Given the description of an element on the screen output the (x, y) to click on. 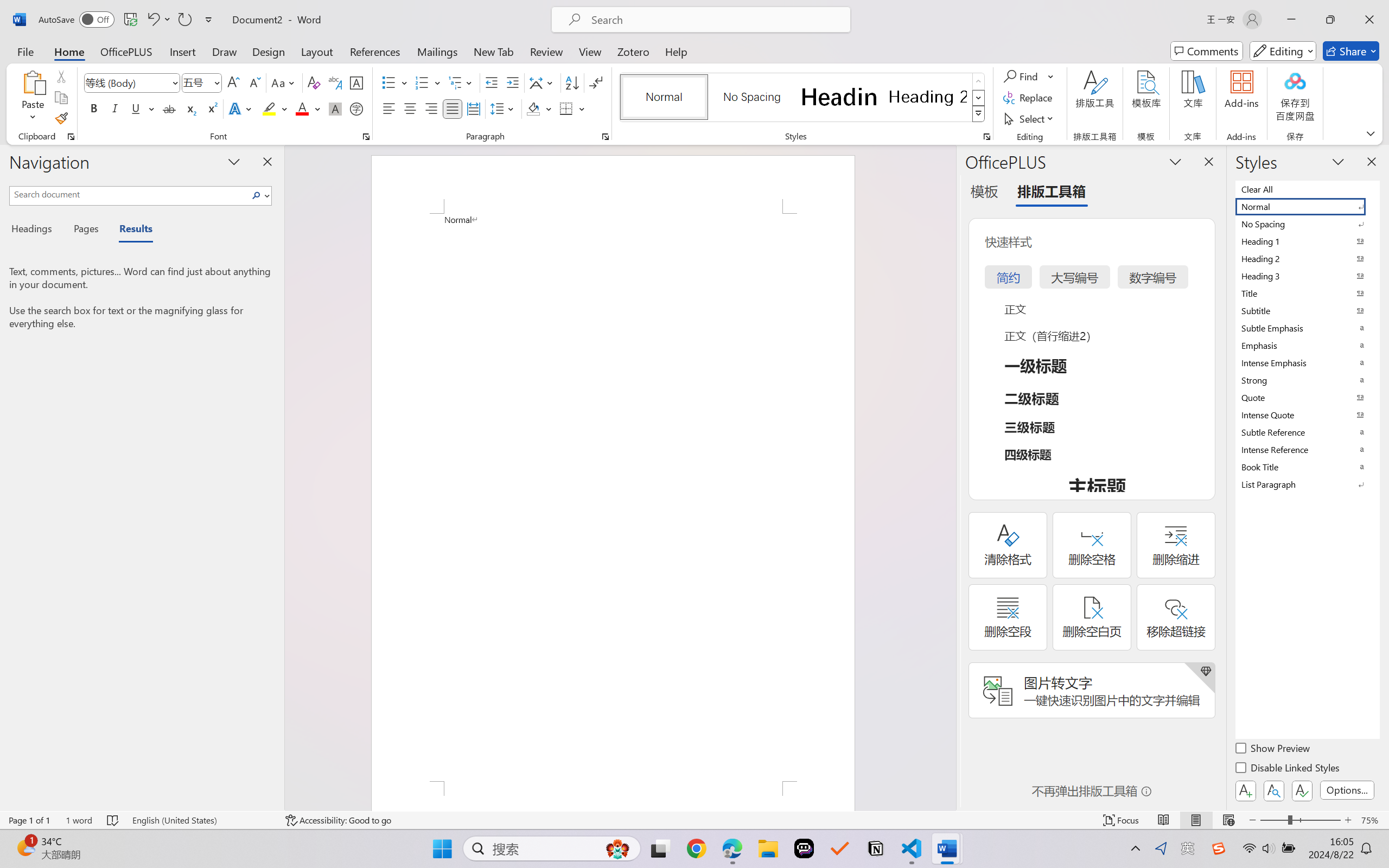
Shading RGB(0, 0, 0) (533, 108)
Bullets (388, 82)
Italic (115, 108)
Headings (35, 229)
Title (1306, 293)
Class: NetUIScrollBar (948, 477)
Comments (1206, 50)
Phonetic Guide... (334, 82)
Row up (978, 81)
Quote (1306, 397)
AutomationID: QuickStylesGallery (802, 97)
Sort... (571, 82)
